Given the description of an element on the screen output the (x, y) to click on. 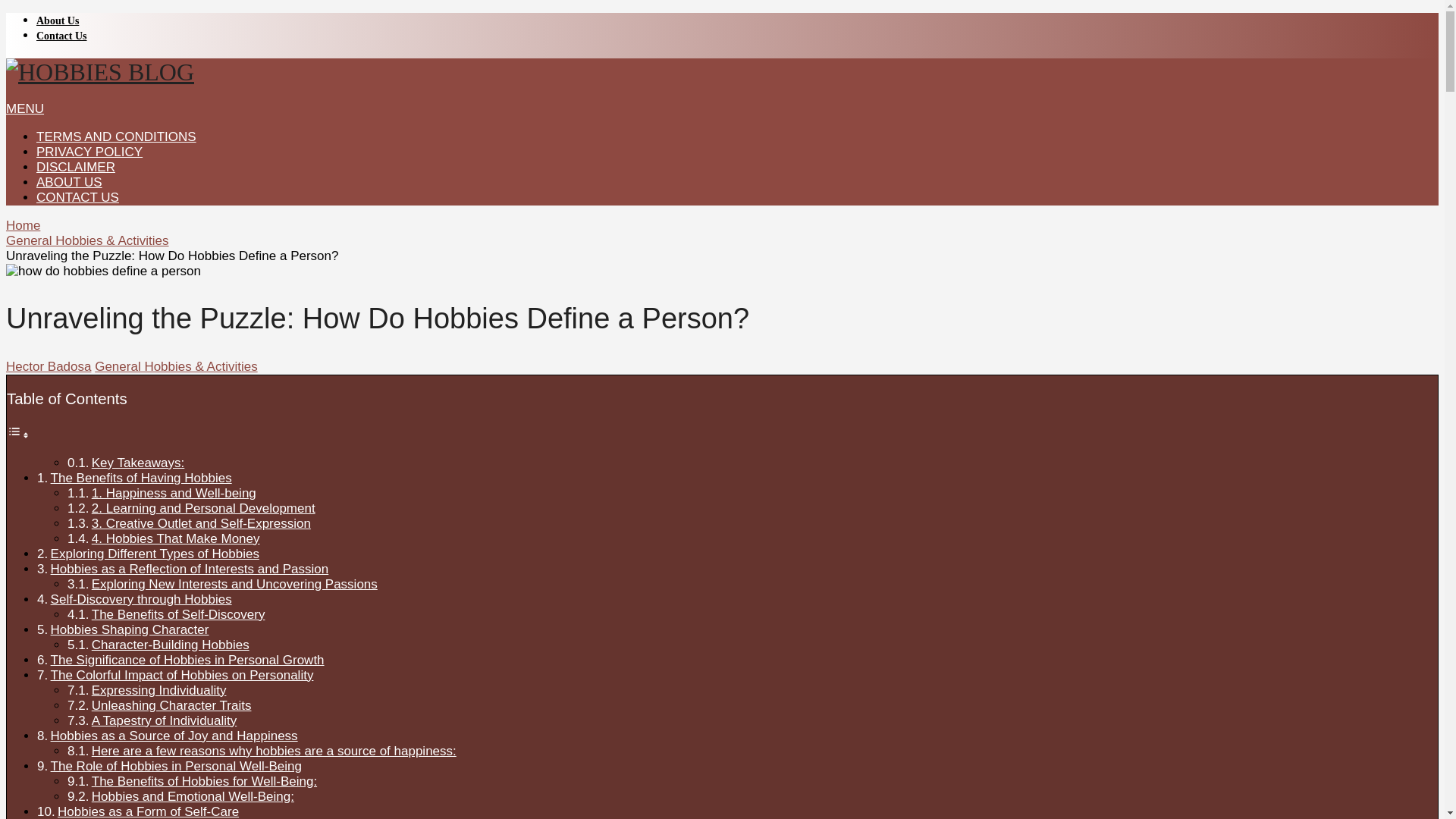
The Benefits of Self-Discovery (177, 614)
Key Takeaways: (137, 462)
Contact Us (61, 35)
A Tapestry of Individuality (164, 720)
3. Creative Outlet and Self-Expression (201, 523)
ABOUT US (68, 182)
Exploring New Interests and Uncovering Passions (234, 584)
Posts by Hector Badosa (47, 366)
MENU (24, 108)
Hector Badosa (47, 366)
The Benefits of Having Hobbies (140, 477)
The Significance of Hobbies in Personal Growth (187, 659)
PRIVACY POLICY (89, 151)
Hobbies Shaping Character (129, 629)
Key Takeaways: (137, 462)
